Given the description of an element on the screen output the (x, y) to click on. 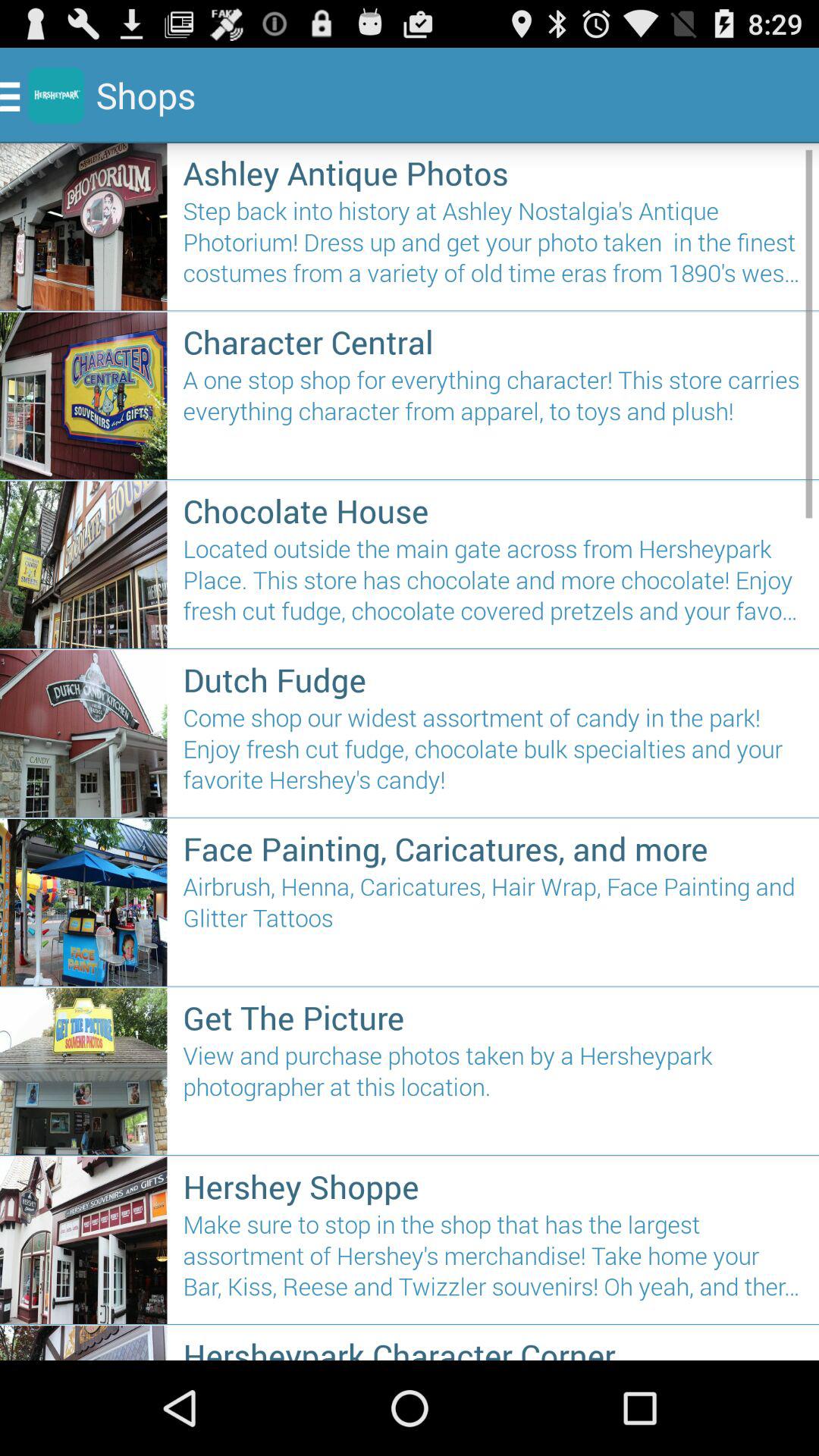
jump to come shop our icon (493, 755)
